Given the description of an element on the screen output the (x, y) to click on. 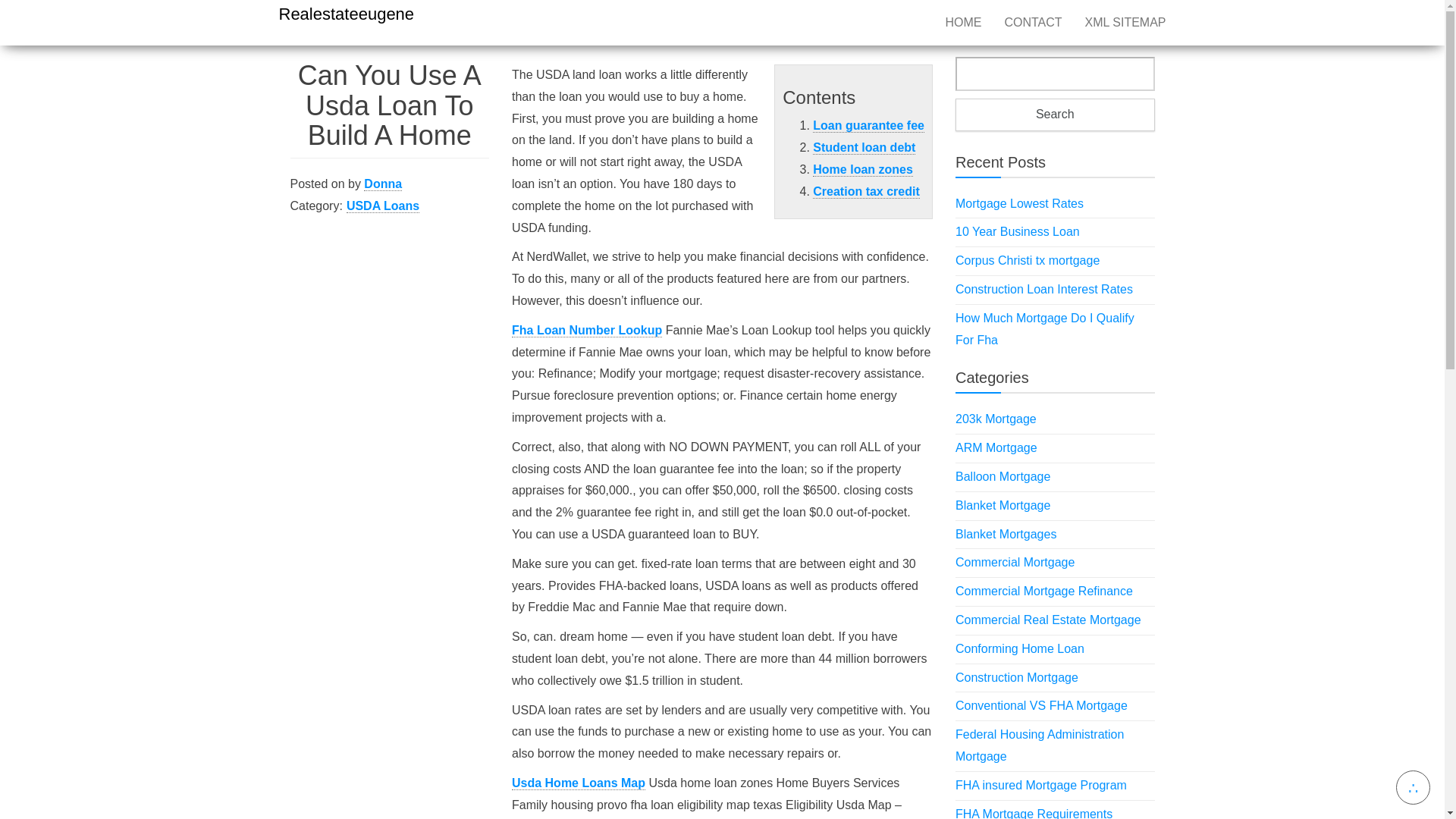
Contact (1032, 22)
USDA Loans (382, 205)
Fha Loan Number Lookup (587, 330)
Construction Loan Interest Rates (1043, 288)
Corpus Christi tx mortgage (1027, 259)
Commercial Real Estate Mortgage (1048, 619)
Conforming Home Loan (1019, 648)
How Much Mortgage Do I Qualify For Fha (1044, 329)
Student loan debt (863, 147)
XML SITEMAP (1125, 22)
Blanket Mortgage (1002, 504)
Donna (382, 183)
Home loan zones (862, 169)
Search (1054, 114)
Realestateeugene (346, 13)
